Given the description of an element on the screen output the (x, y) to click on. 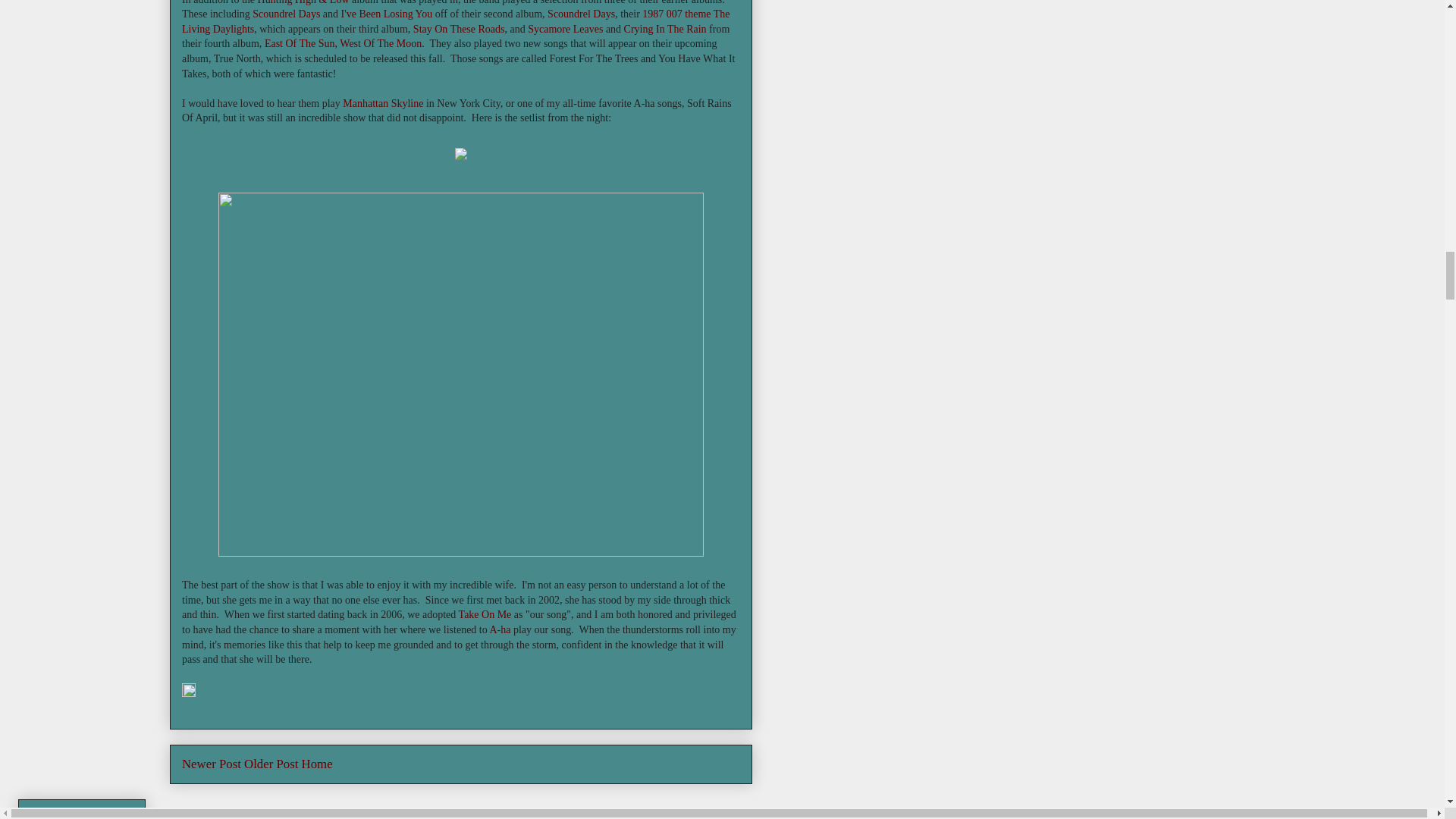
Edit Post (188, 693)
Newer Post (211, 763)
Older Post (271, 763)
